Given the description of an element on the screen output the (x, y) to click on. 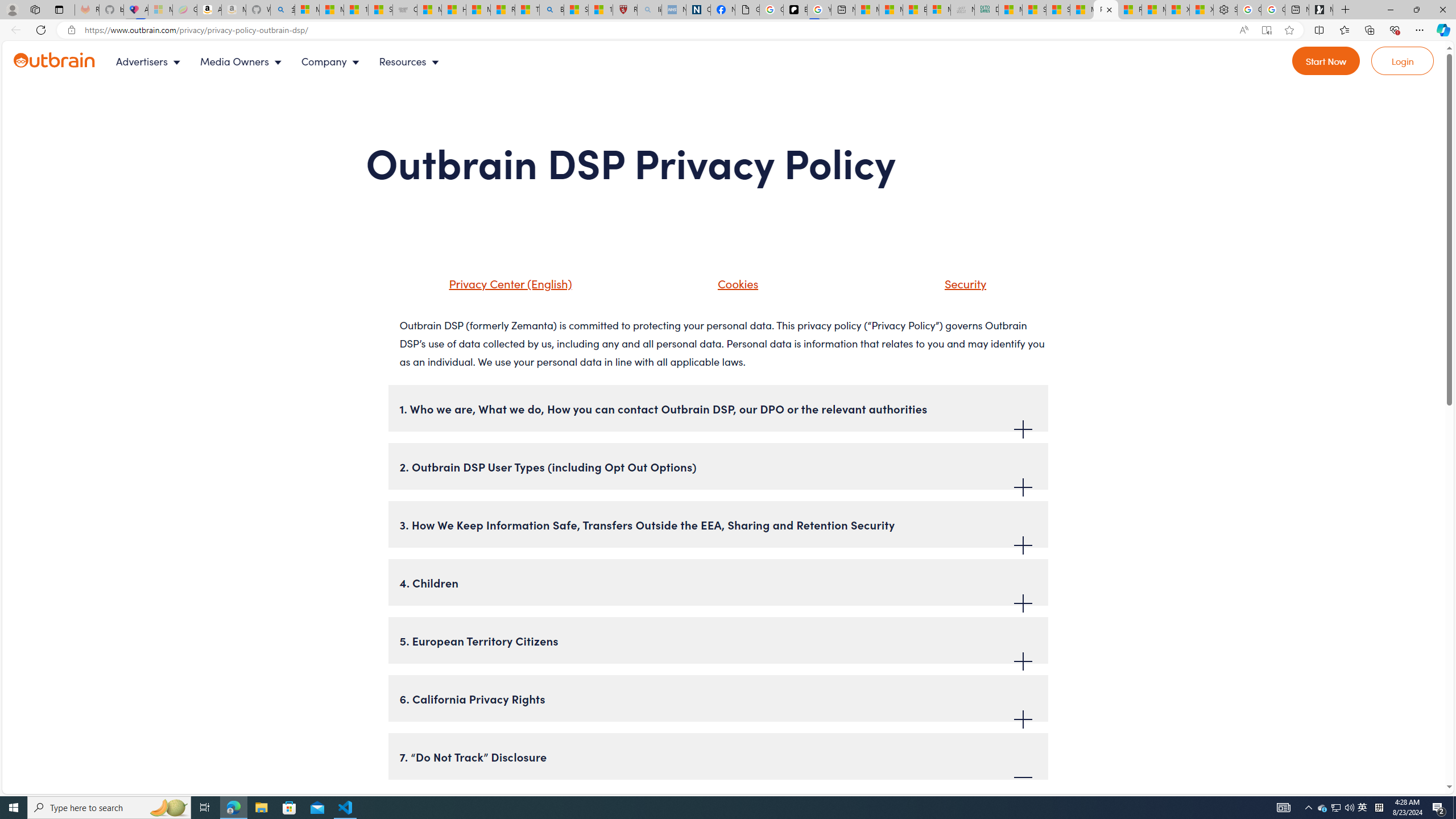
Recipes - MSN (502, 9)
How I Got Rid of Microsoft Edge's Unnecessary Features (453, 9)
Resources (411, 61)
Skip navigation to go to main content (34, 46)
Bing (551, 9)
